Given the description of an element on the screen output the (x, y) to click on. 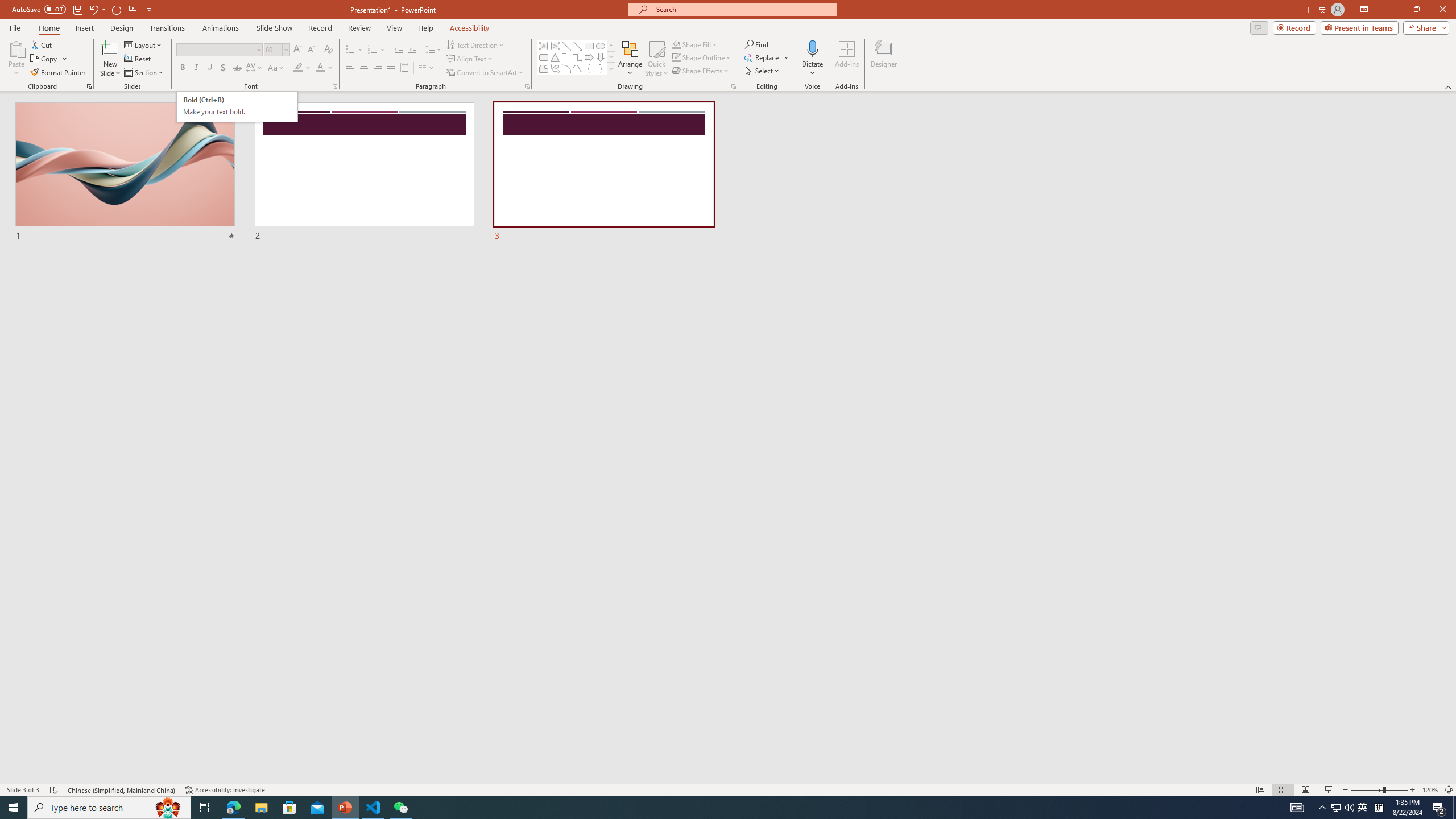
Underline (209, 67)
Font Color Red (320, 67)
Slide (604, 171)
Center (363, 67)
Format Painter (58, 72)
Arrow: Down (600, 57)
Design (122, 28)
Clear Formatting (327, 49)
From Beginning (133, 9)
New Slide (110, 48)
Zoom (1379, 790)
Distributed (404, 67)
Shape Outline Blue, Accent 1 (675, 56)
Accessibility (469, 28)
Oval (600, 45)
